Given the description of an element on the screen output the (x, y) to click on. 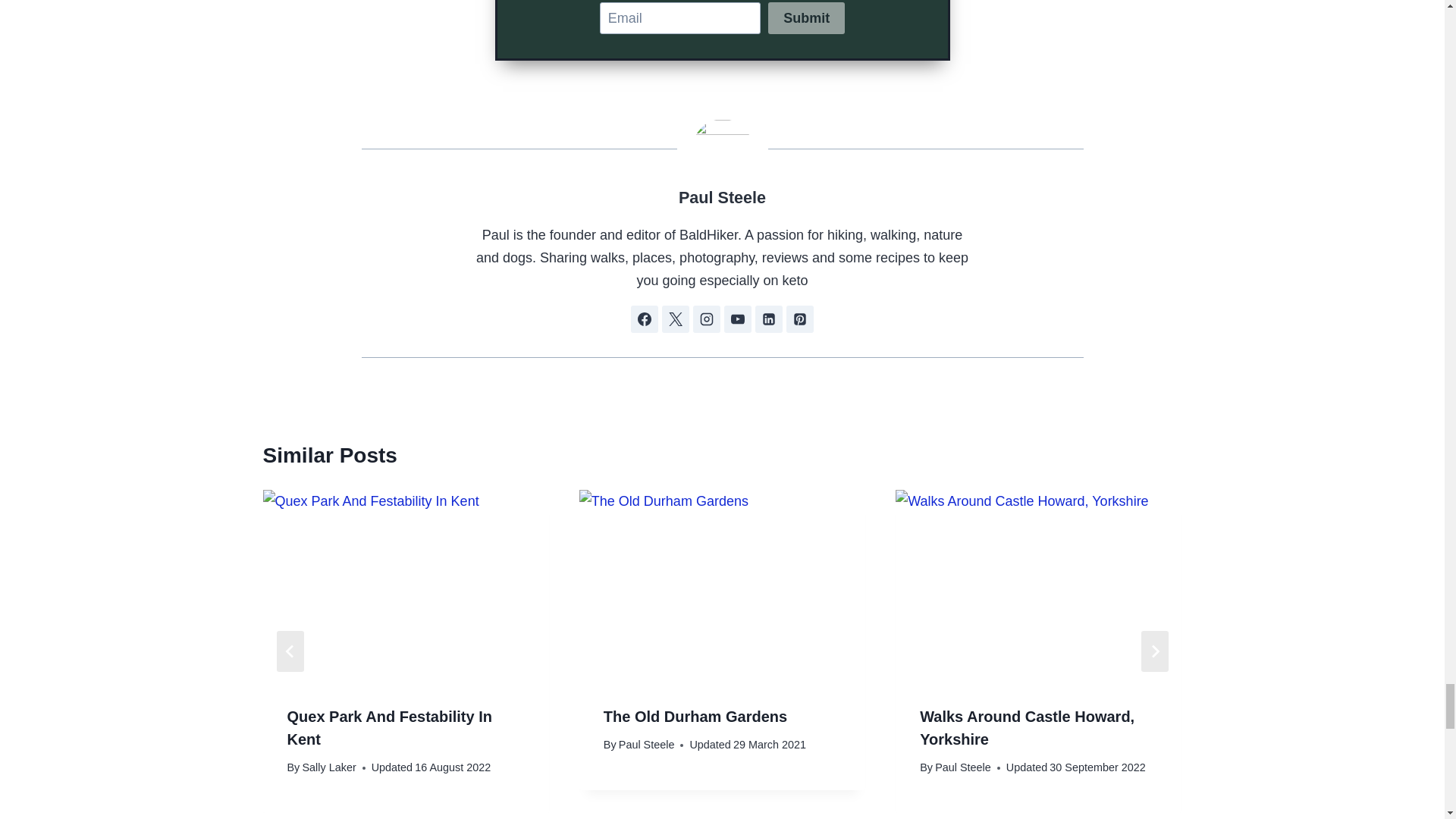
Follow Paul Steele on X formerly Twitter (675, 318)
Follow Paul Steele on Facebook (644, 318)
Follow Paul Steele on Instagram (706, 318)
Posts by Paul Steele (721, 197)
Follow Paul Steele on Linkedin (769, 318)
Follow Paul Steele on Pinterest (799, 318)
Follow Paul Steele on Youtube (737, 318)
